Given the description of an element on the screen output the (x, y) to click on. 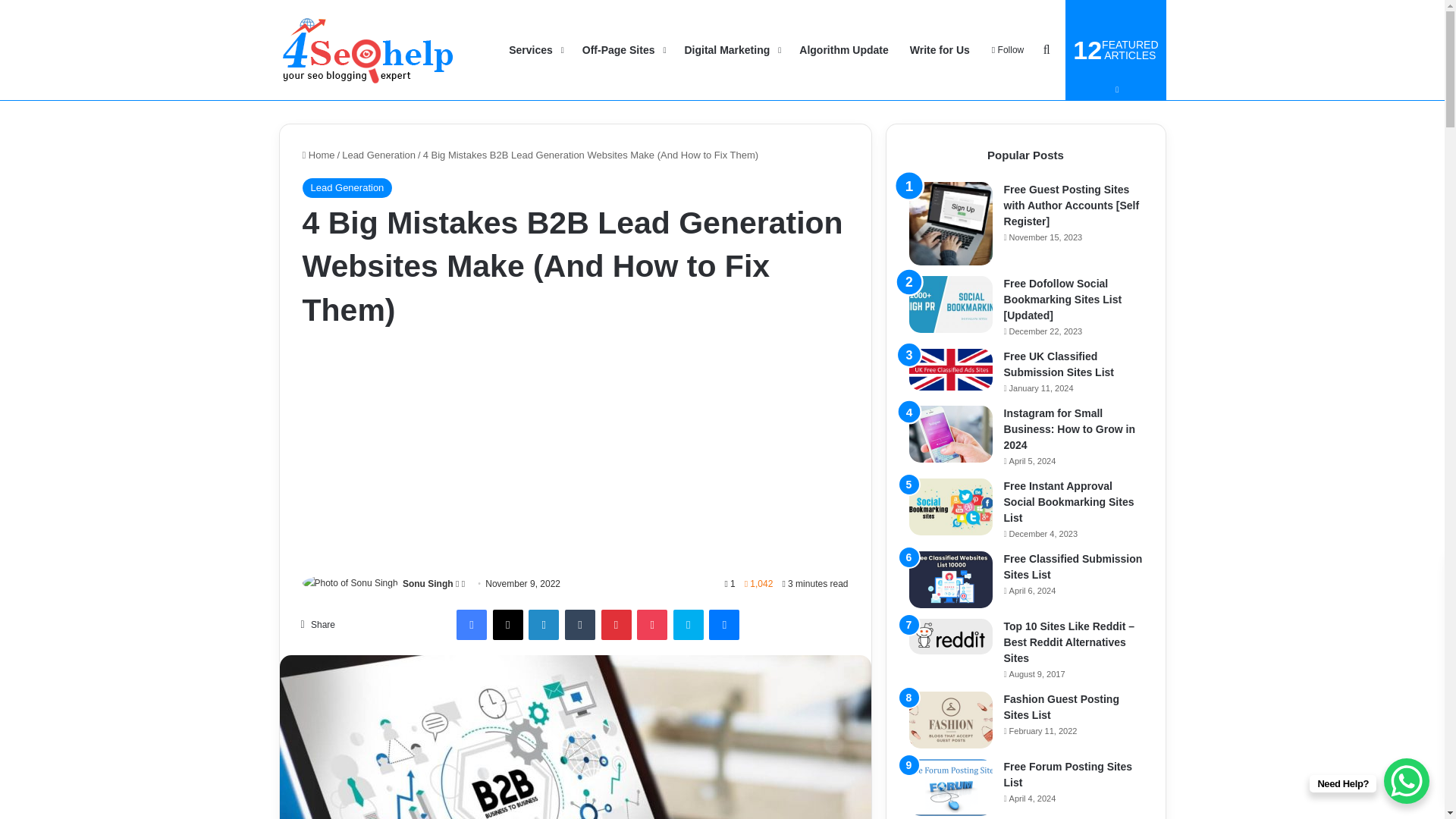
Off-Page Sites (623, 49)
Sonu Singh (427, 583)
4 SEO Help (368, 50)
Digital Marketing (730, 49)
